Given the description of an element on the screen output the (x, y) to click on. 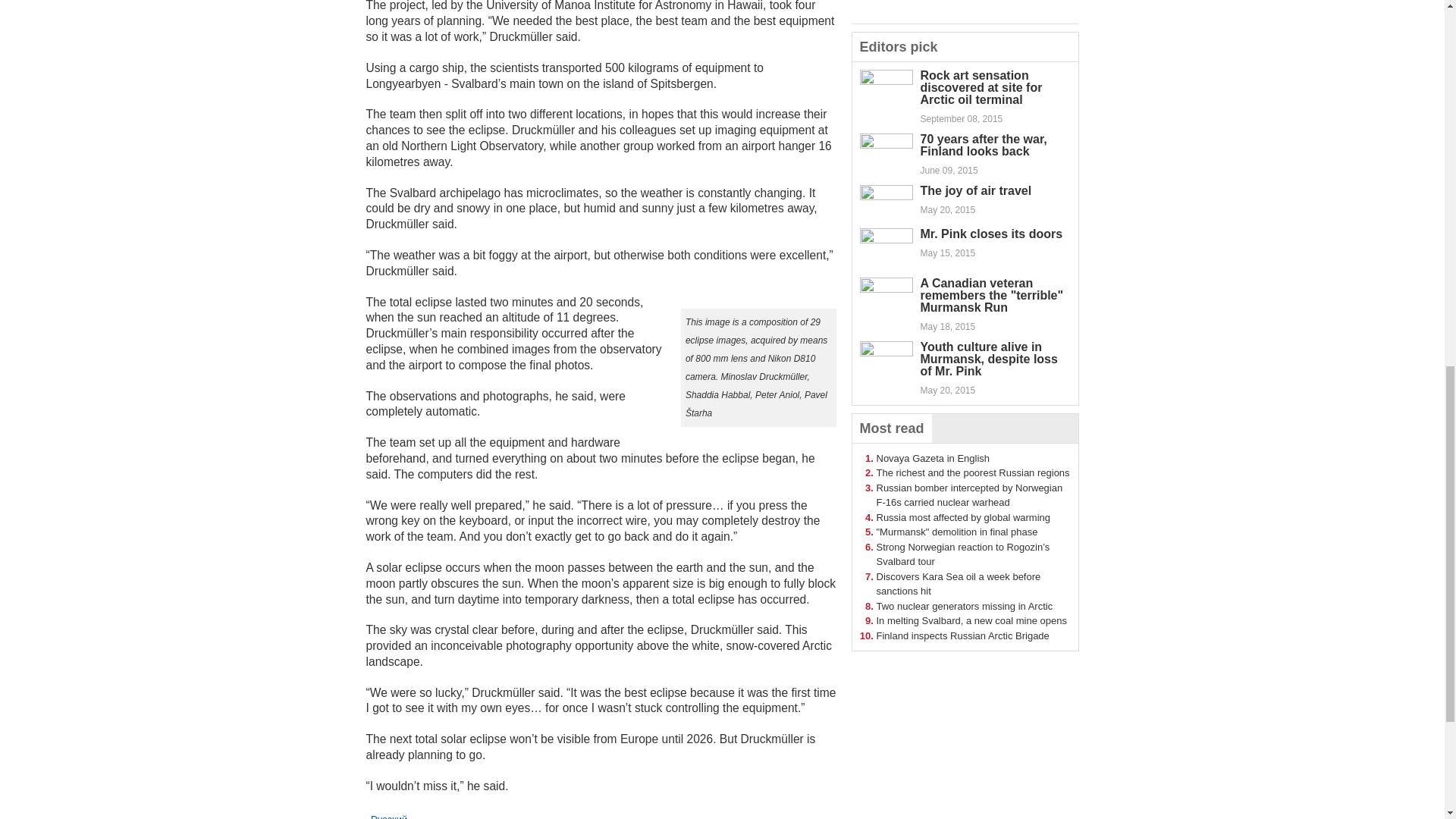
The joy of air travel (976, 190)
Mr. Pink closes its doors (991, 233)
70 years after the war, Finland looks back (983, 145)
A Canadian veteran remembers the "terrible" Murmansk Run (992, 294)
